Given the description of an element on the screen output the (x, y) to click on. 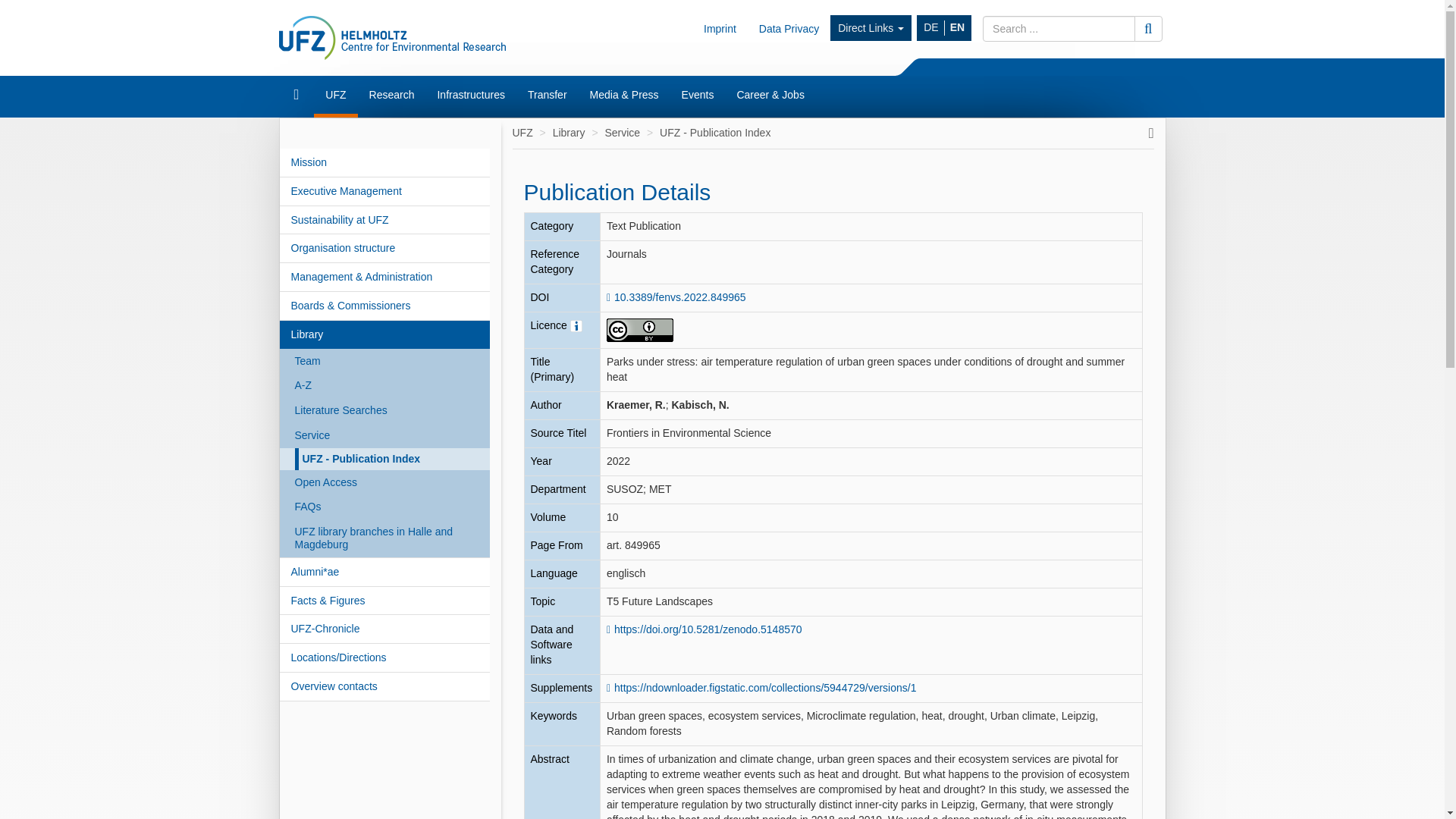
Imprint (720, 28)
EN (956, 28)
Data Privacy (788, 28)
search term (1058, 28)
Direct Links (870, 27)
DE (930, 28)
